Given the description of an element on the screen output the (x, y) to click on. 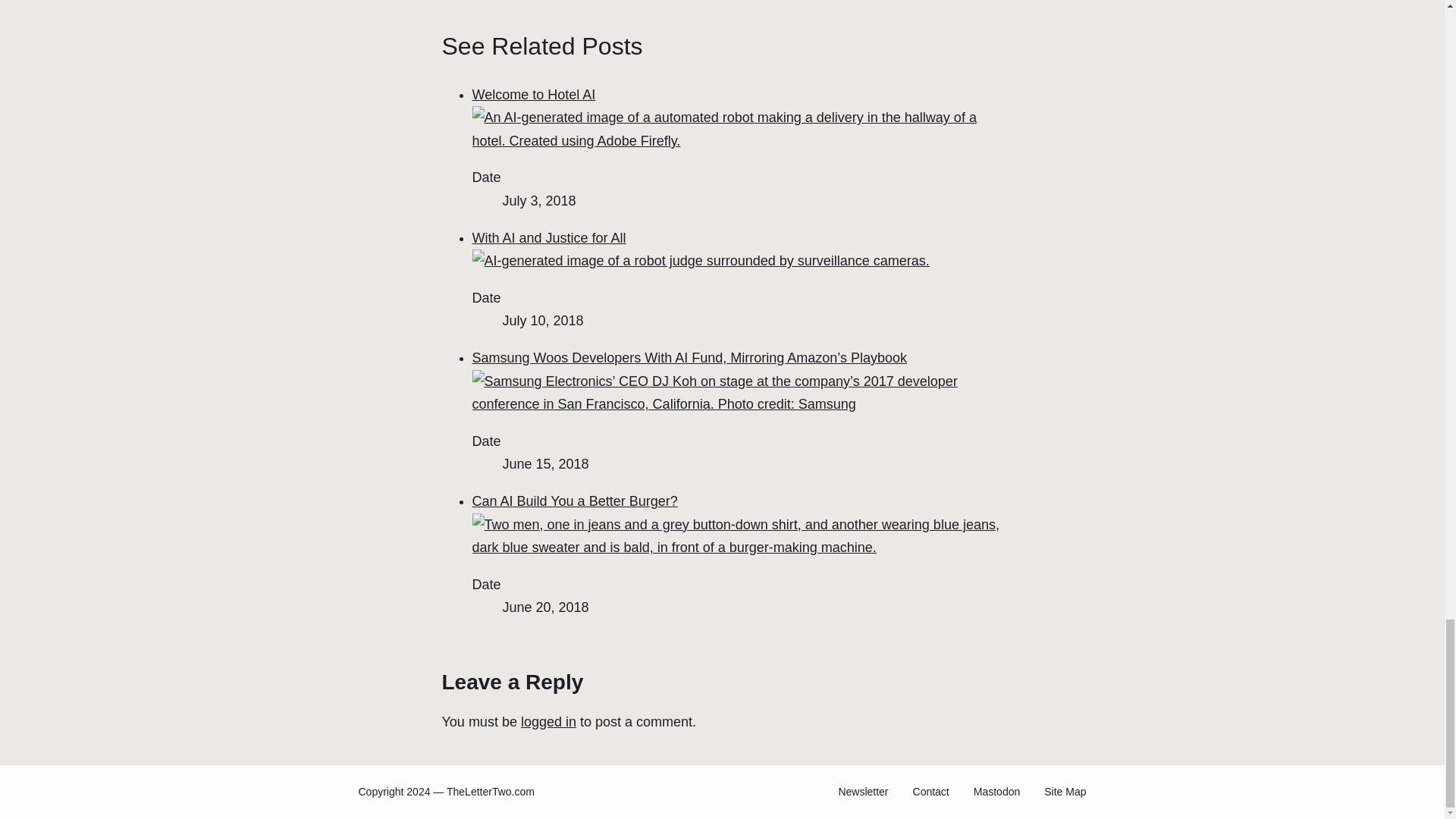
Welcome to Hotel AI (737, 117)
Mastodon (997, 791)
Can AI Build You a Better Burger? (737, 524)
Contact (930, 791)
Site Map (1064, 791)
With AI and Justice for All (699, 249)
logged in (548, 721)
Newsletter (863, 791)
